Given the description of an element on the screen output the (x, y) to click on. 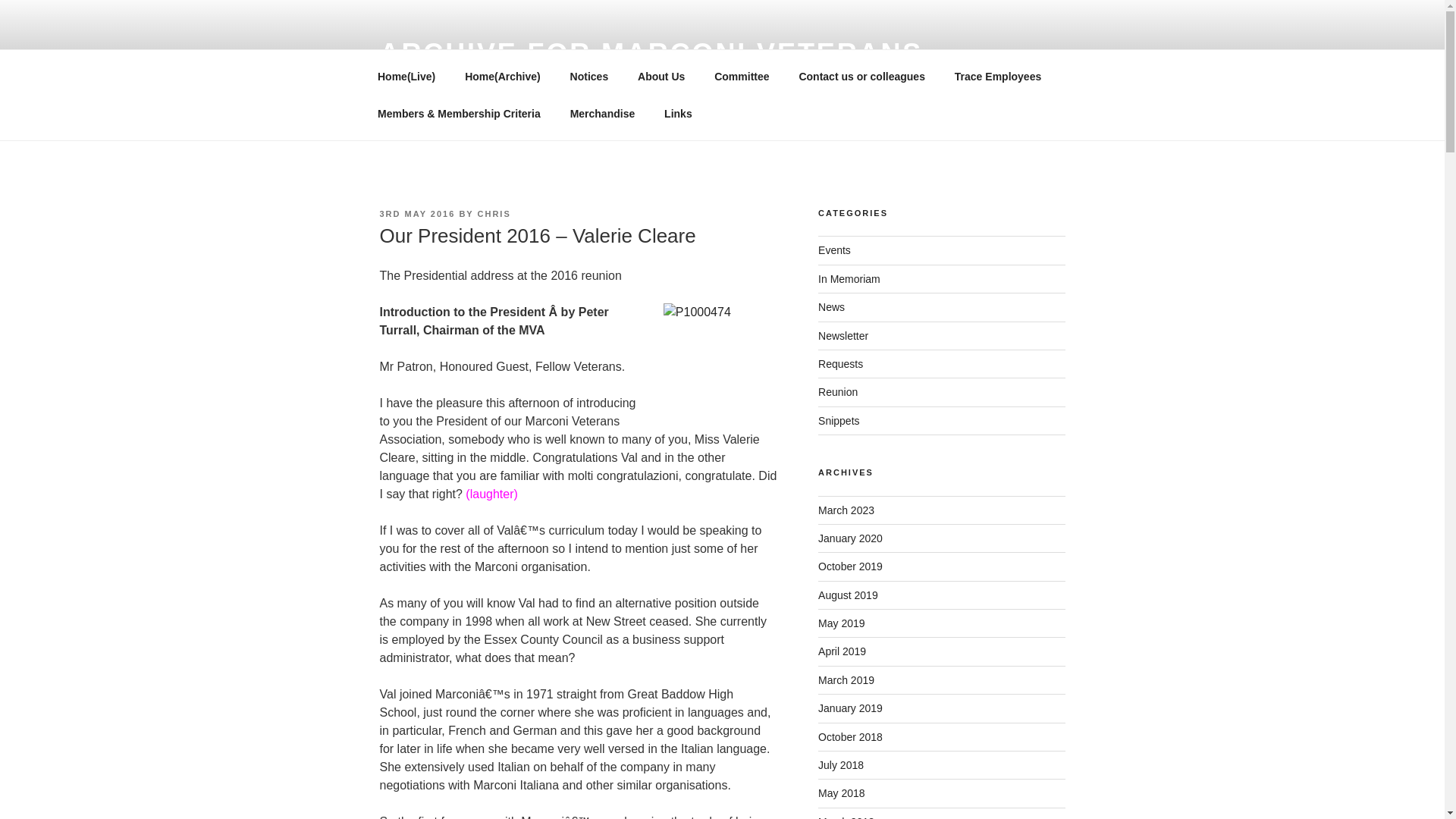
Committee (742, 76)
April 2019 (842, 651)
In Memoriam (849, 278)
Snippets (838, 420)
January 2020 (850, 538)
Newsletter (842, 336)
January 2019 (850, 707)
October 2018 (850, 736)
Notices (588, 76)
3RD MAY 2016 (416, 213)
